Given the description of an element on the screen output the (x, y) to click on. 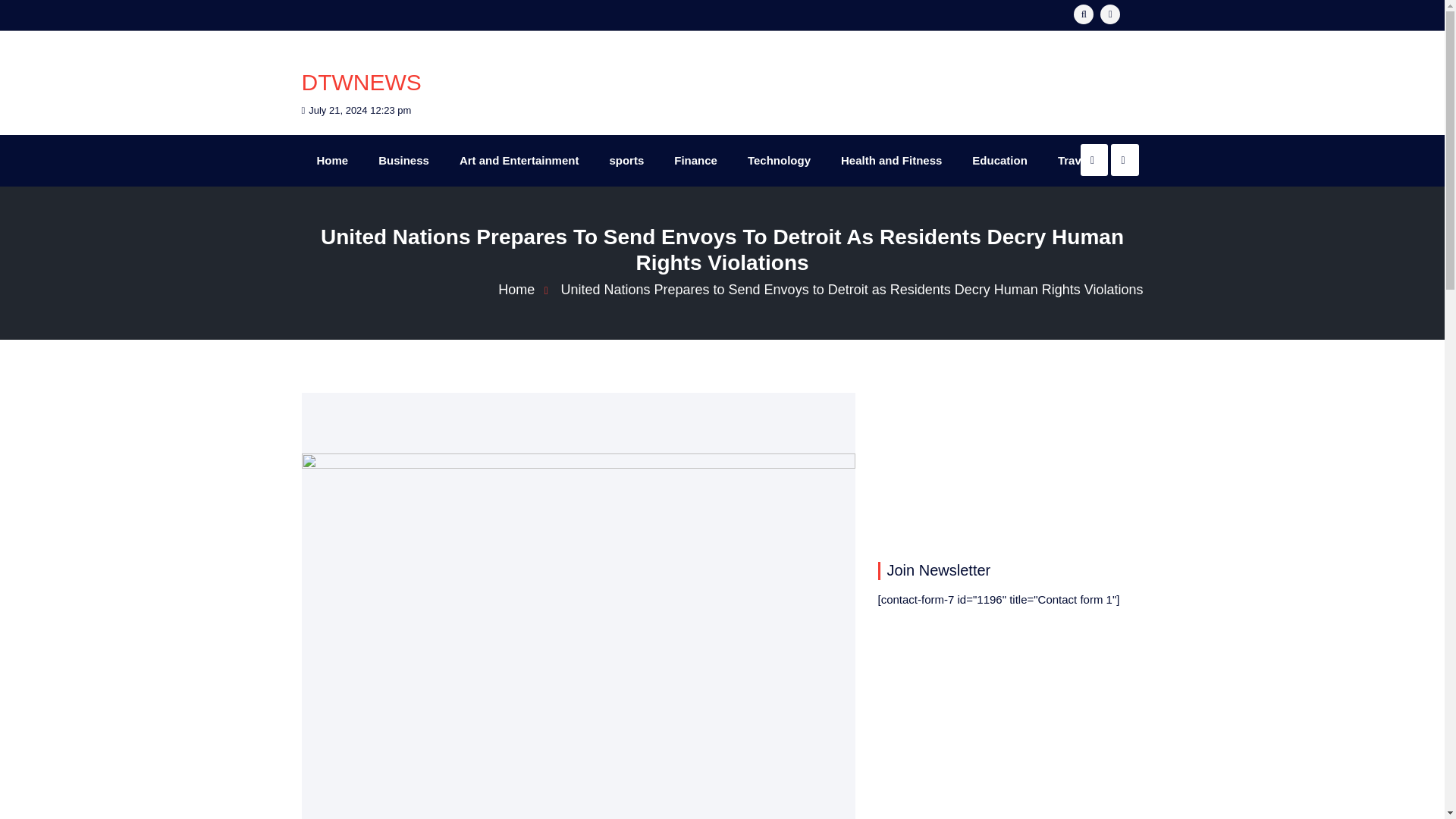
Education (999, 160)
Education (999, 160)
Travel (1073, 160)
Technology (778, 160)
sports (626, 160)
DTWNEWS (361, 82)
Travel (1073, 160)
Home (332, 160)
Home (527, 289)
Health and Fitness (890, 160)
Business (403, 160)
Art and Entertainment (519, 160)
Art and Entertainment (519, 160)
sports (626, 160)
Home (332, 160)
